Given the description of an element on the screen output the (x, y) to click on. 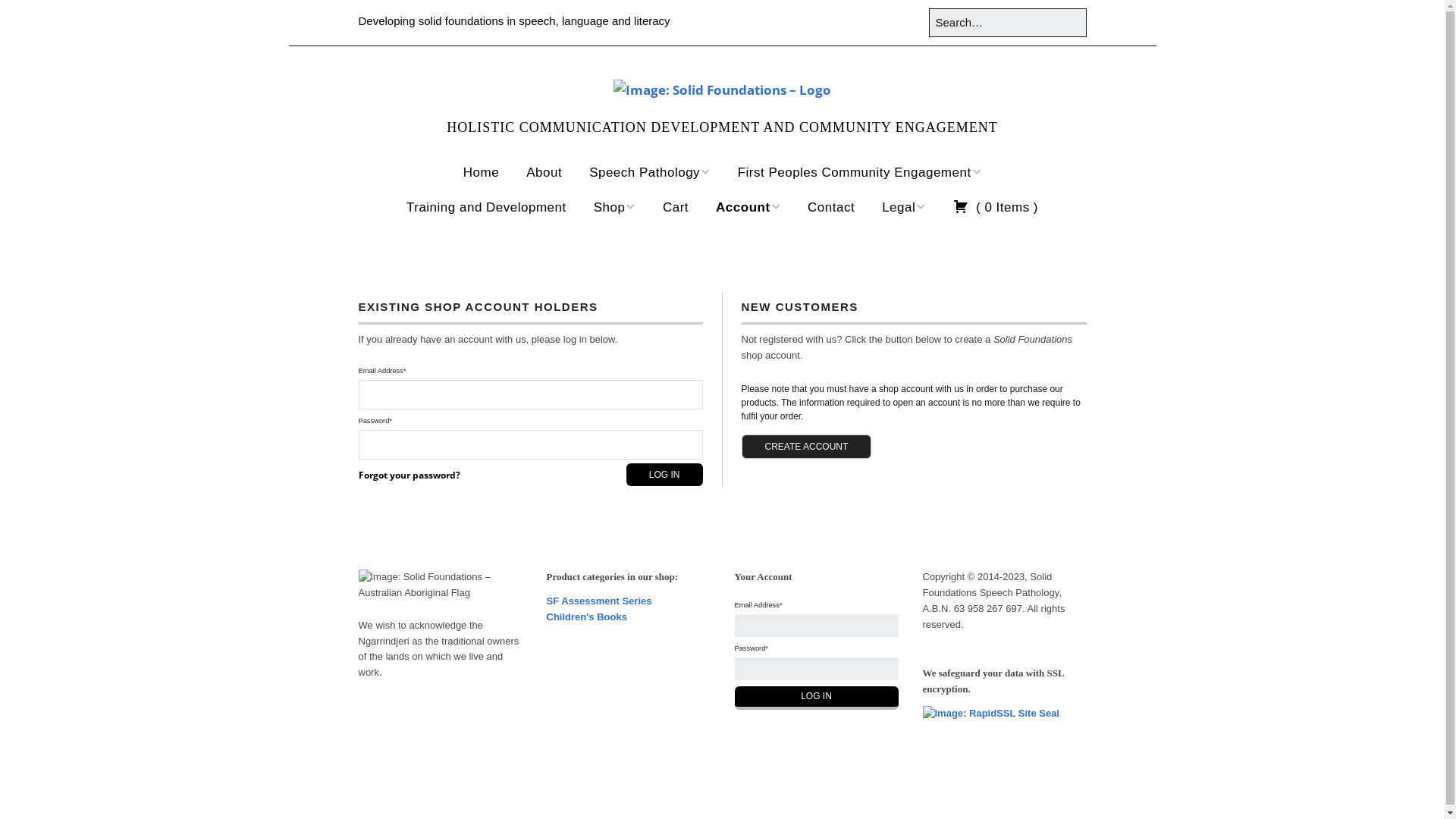
Search Element type: text (32, 17)
LOG IN Element type: text (664, 474)
SF Assessment Series Element type: text (598, 600)
( 0 Items ) Element type: text (995, 207)
Speech Pathology Element type: text (649, 172)
LOG IN Element type: text (815, 697)
CREATE ACCOUNT Element type: text (806, 446)
Cart Element type: text (675, 207)
Home Element type: text (481, 172)
Account Element type: text (747, 207)
About Element type: text (544, 172)
Contact Element type: text (830, 207)
Press Enter to submit your search Element type: hover (1006, 22)
Forgot your password? Element type: text (408, 474)
First Peoples Community Engagement Element type: text (859, 172)
Training and Development Element type: text (486, 207)
Children's Books Element type: text (586, 616)
Shop Element type: text (614, 207)
Legal Element type: text (903, 207)
